Given the description of an element on the screen output the (x, y) to click on. 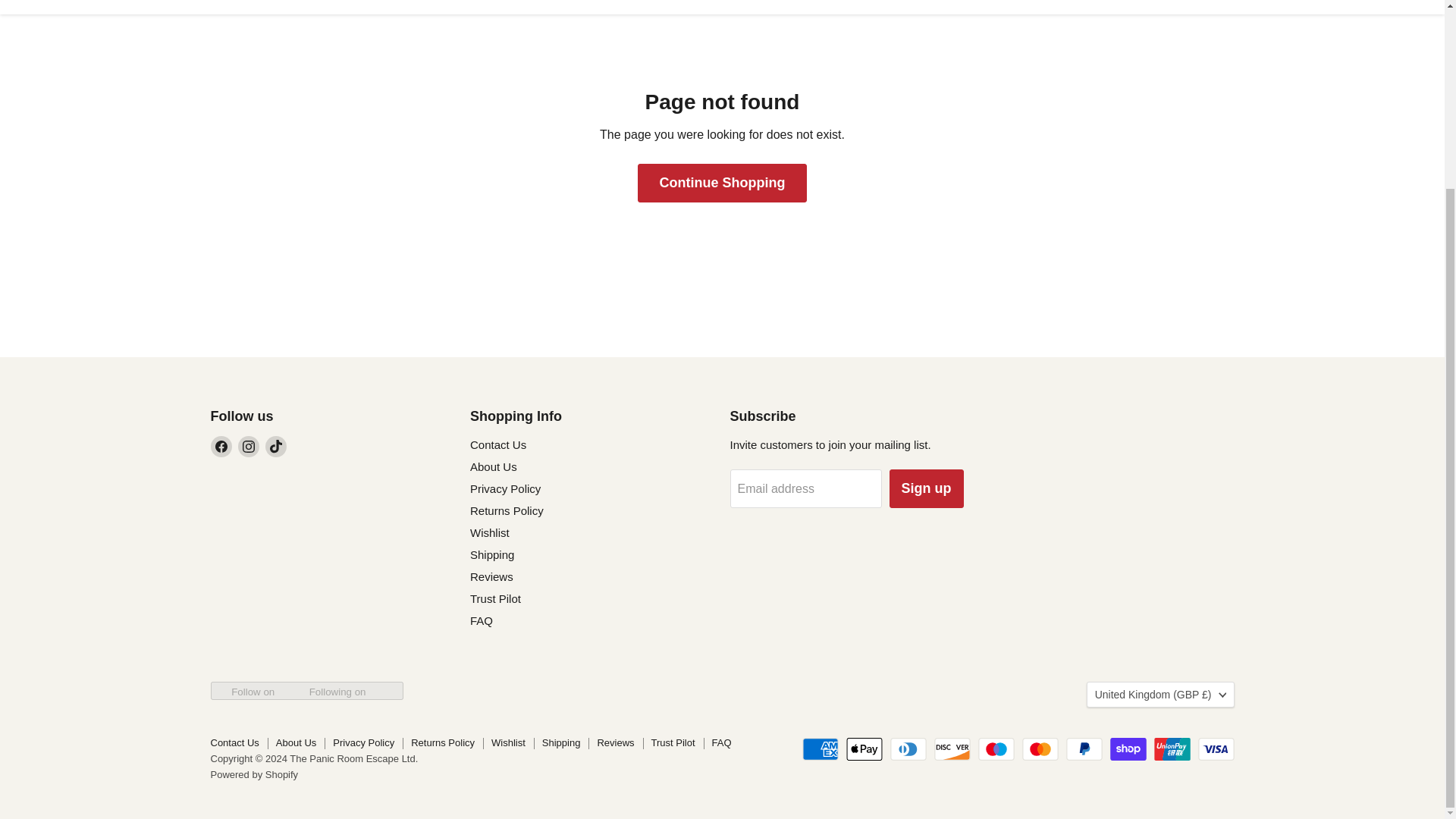
TikTok (275, 446)
Instagram (248, 446)
Facebook (221, 446)
